Given the description of an element on the screen output the (x, y) to click on. 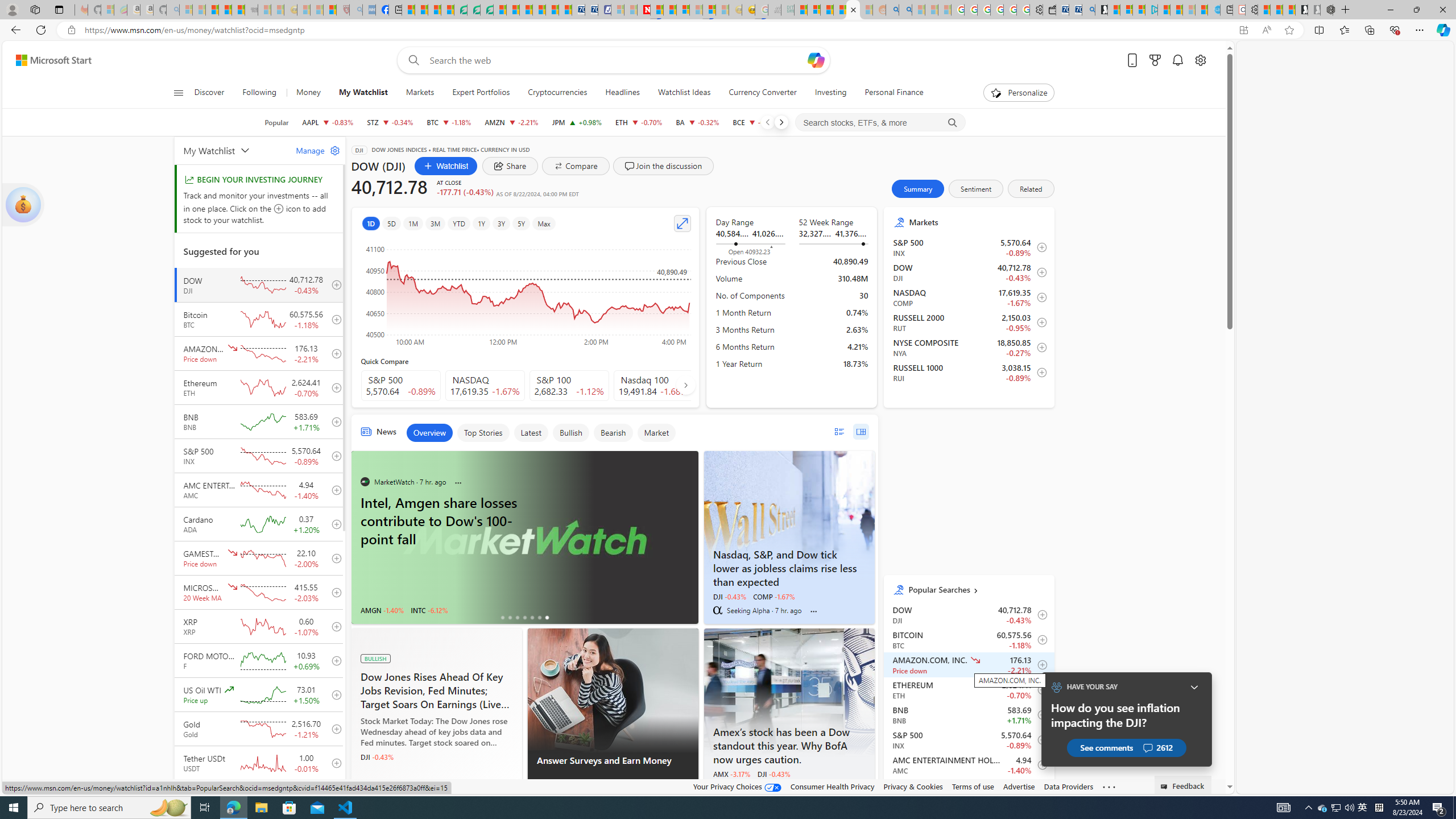
Latest (530, 432)
Bullish (570, 432)
14 Common Myths Debunked By Scientific Facts (669, 9)
1Y (480, 223)
Personal Finance (893, 92)
COMP NASDAQ decrease 17,619.35 -299.63 -1.67% itemundefined (969, 297)
Popular (276, 121)
Terms of use (973, 786)
